Given the description of an element on the screen output the (x, y) to click on. 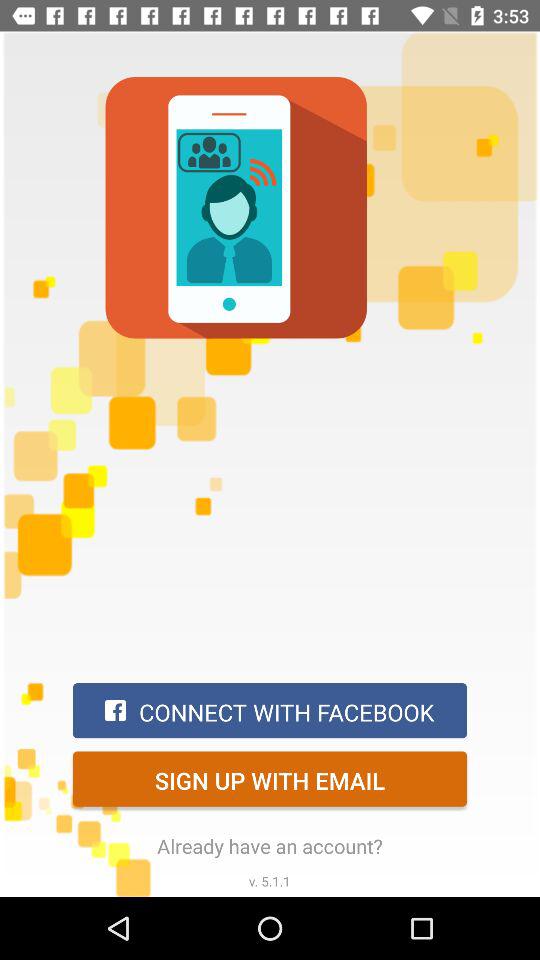
jump until sign up with item (269, 778)
